Given the description of an element on the screen output the (x, y) to click on. 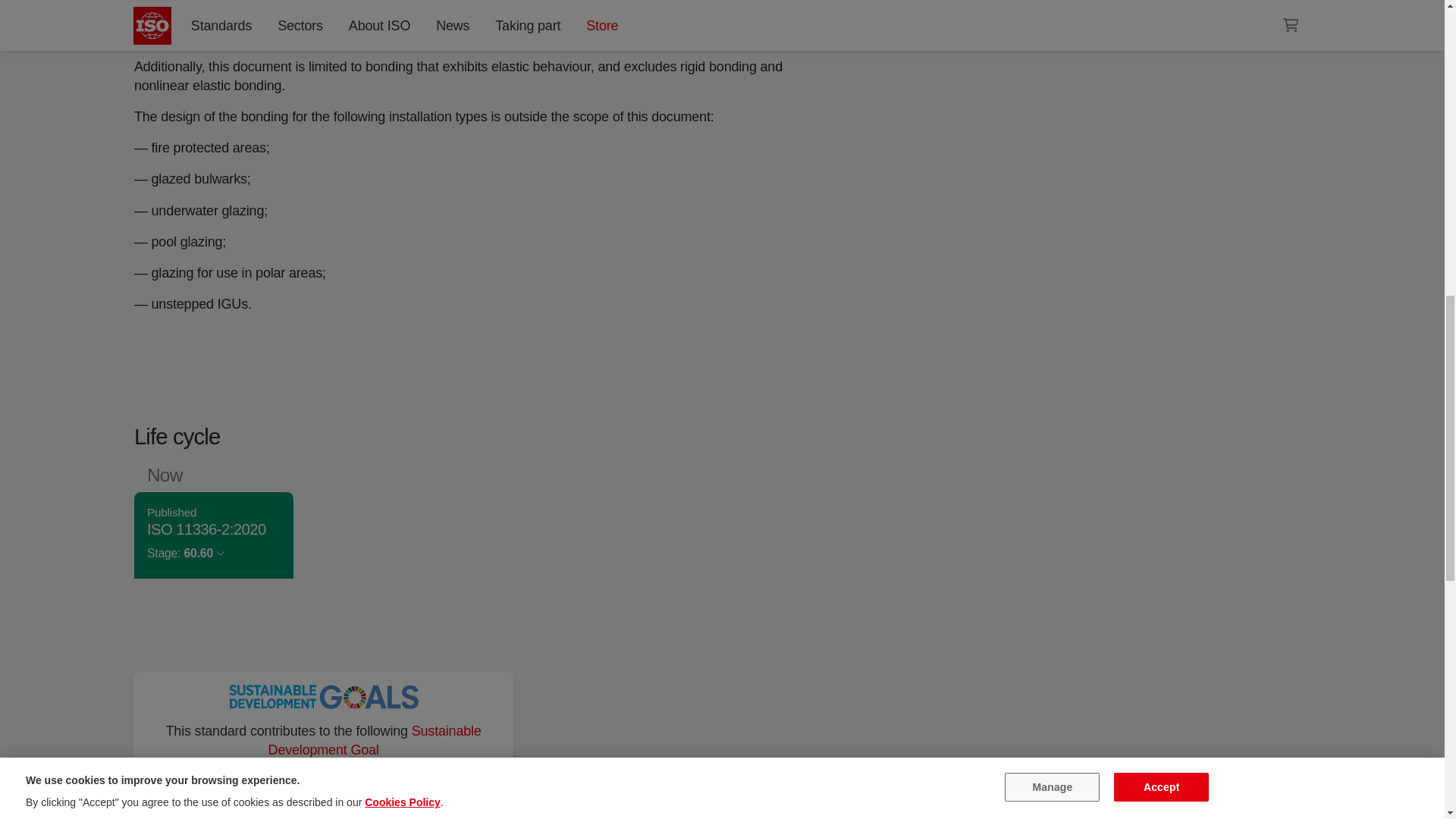
RSS (956, 6)
Stage: 60.60 (185, 552)
Industry, Innovation and Infrastructure (323, 783)
